Given the description of an element on the screen output the (x, y) to click on. 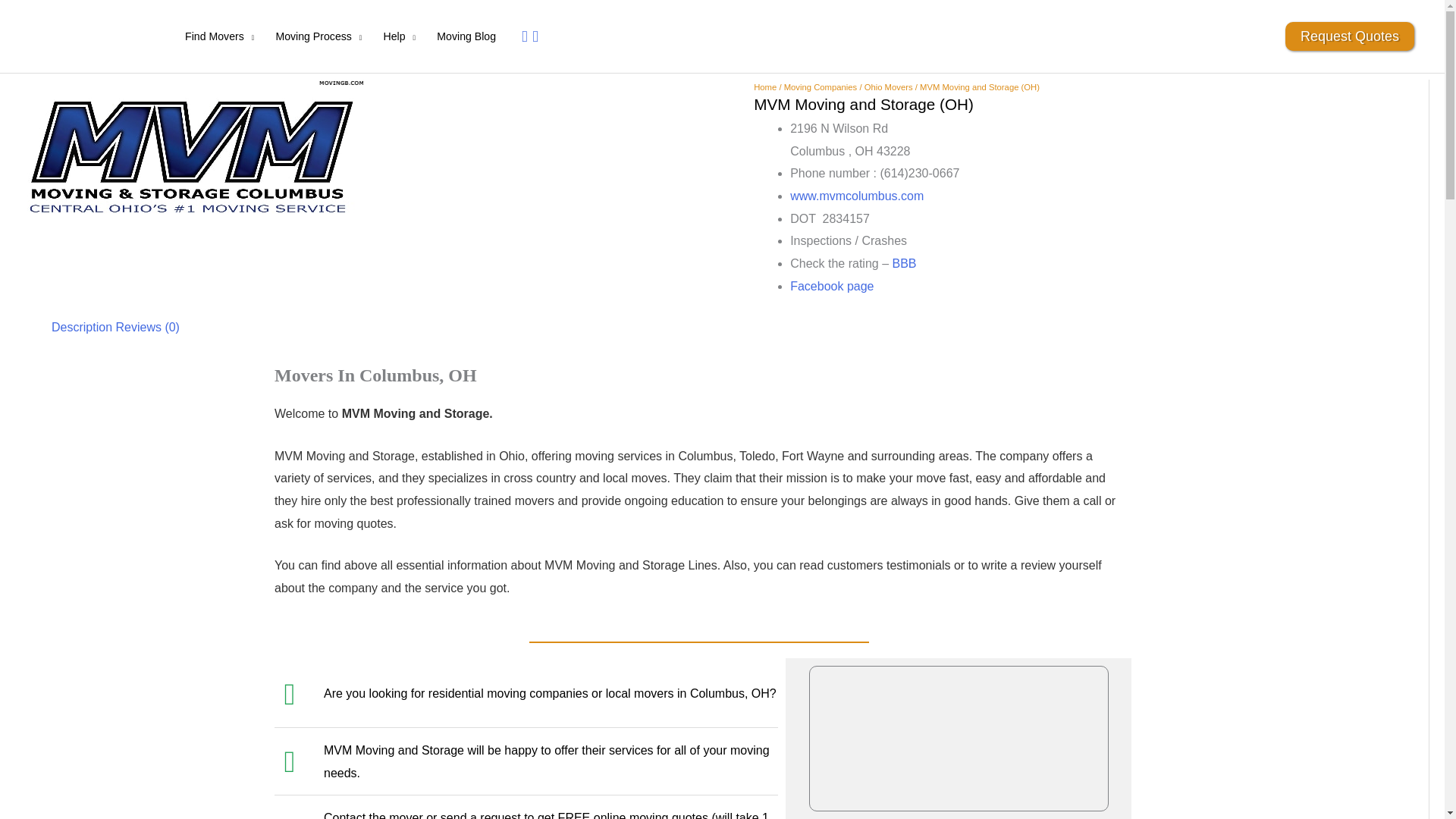
Help (399, 36)
Find Movers (219, 36)
Moving Blog (466, 36)
Request Quotes (1349, 36)
MVM Moving and Storage OH Movingb.com (189, 154)
Search (532, 36)
Moving Process (318, 36)
